Given the description of an element on the screen output the (x, y) to click on. 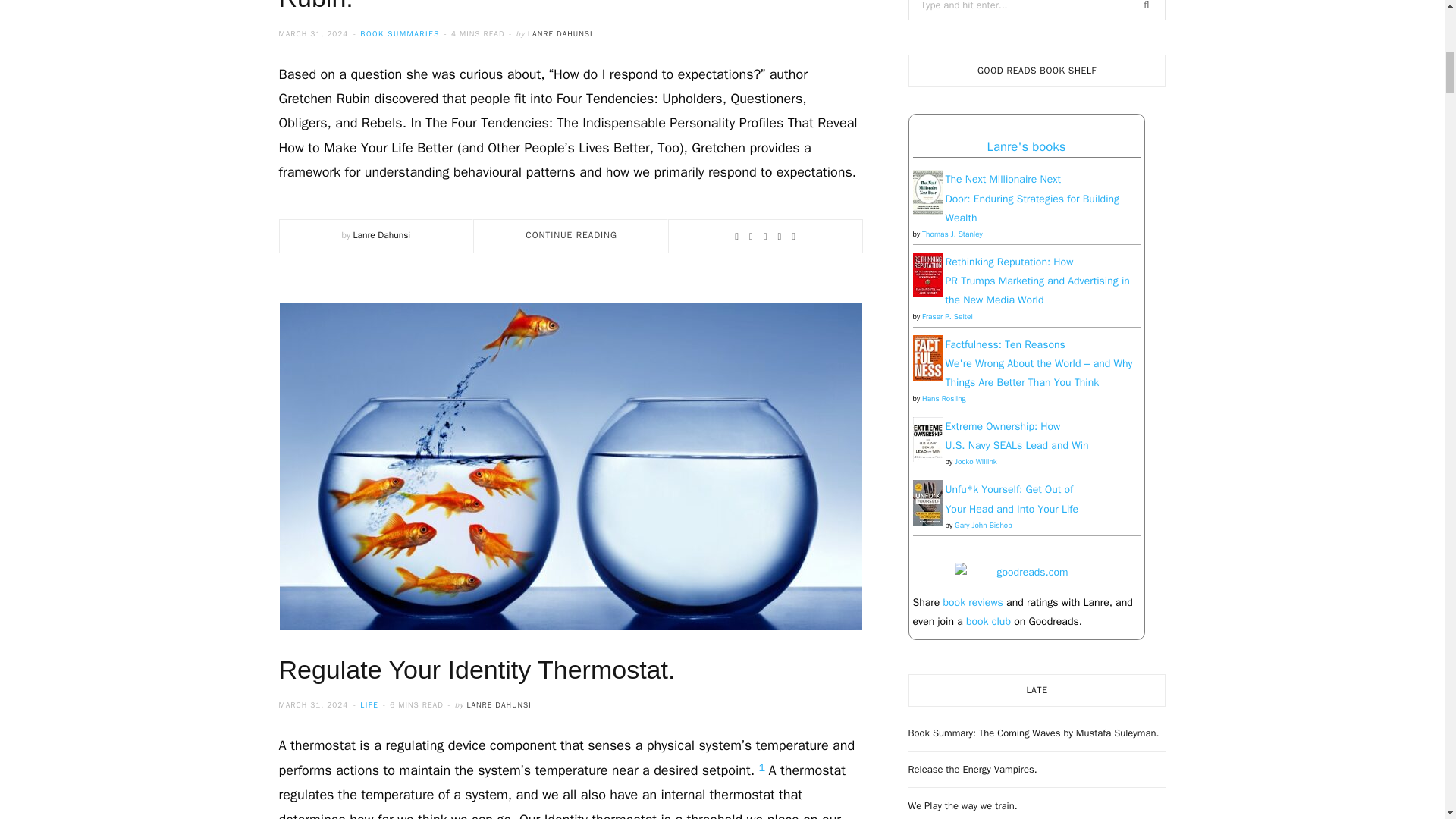
Book Summary: The Four Tendencies by Gretchen Rubin. (569, 6)
Posts by Lanre Dahunsi (381, 234)
Lanre Dahunsi (381, 234)
MARCH 31, 2024 (315, 33)
Posts by Lanre Dahunsi (559, 33)
LANRE DAHUNSI (559, 33)
BOOK SUMMARIES (399, 33)
